Given the description of an element on the screen output the (x, y) to click on. 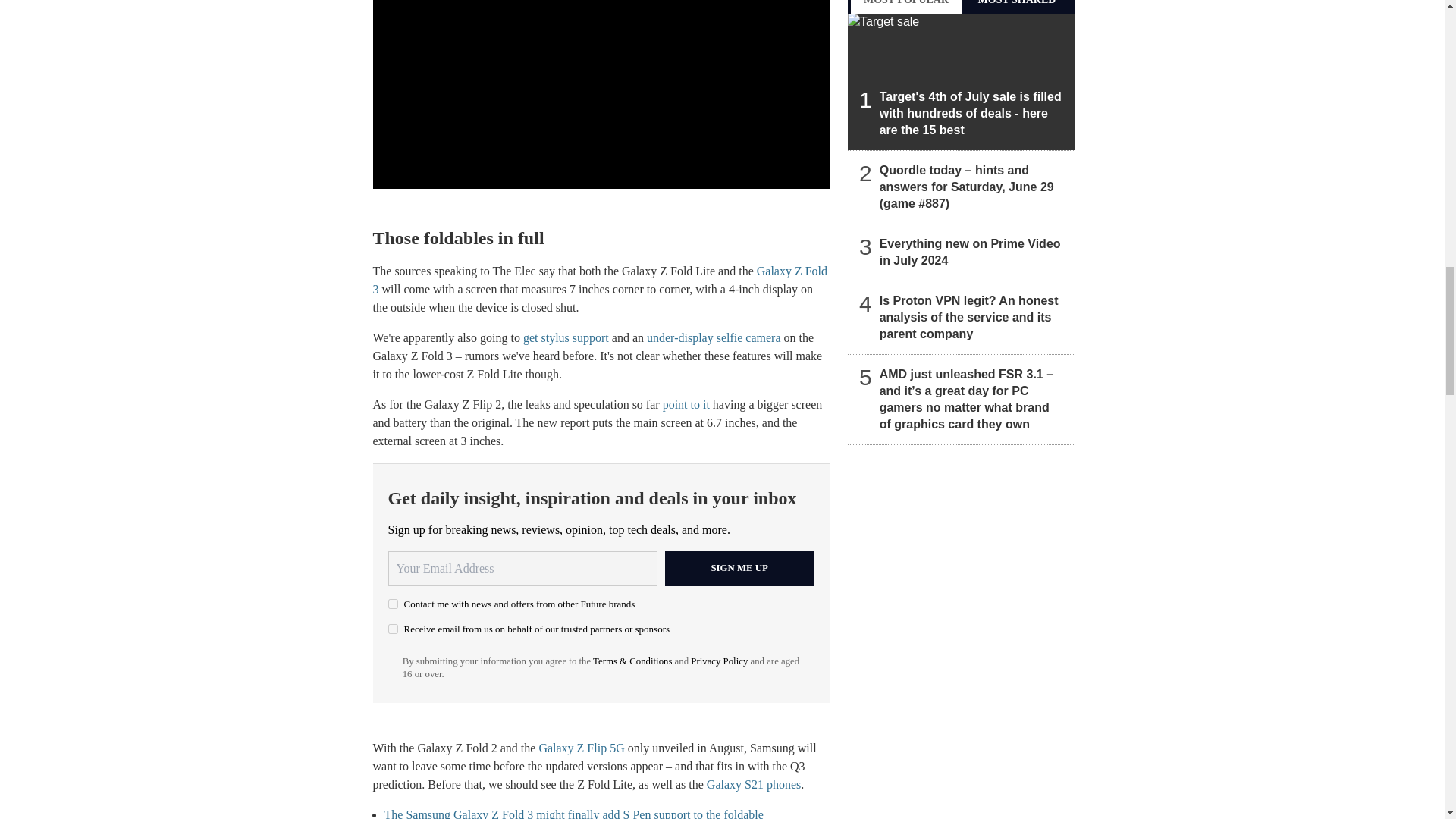
on (392, 603)
on (392, 628)
Sign me up (739, 568)
